Given the description of an element on the screen output the (x, y) to click on. 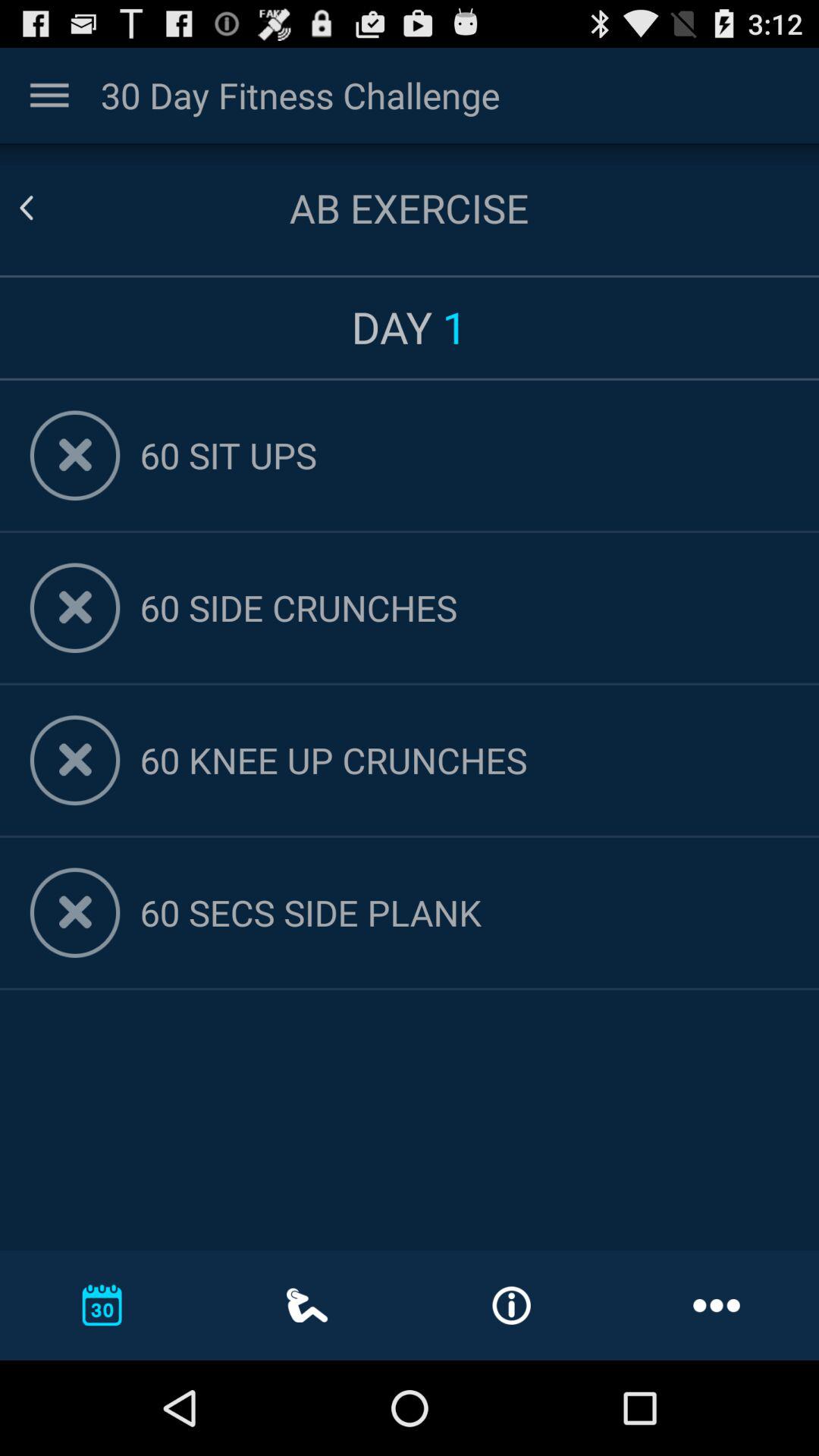
get rid of this option (75, 455)
